Given the description of an element on the screen output the (x, y) to click on. 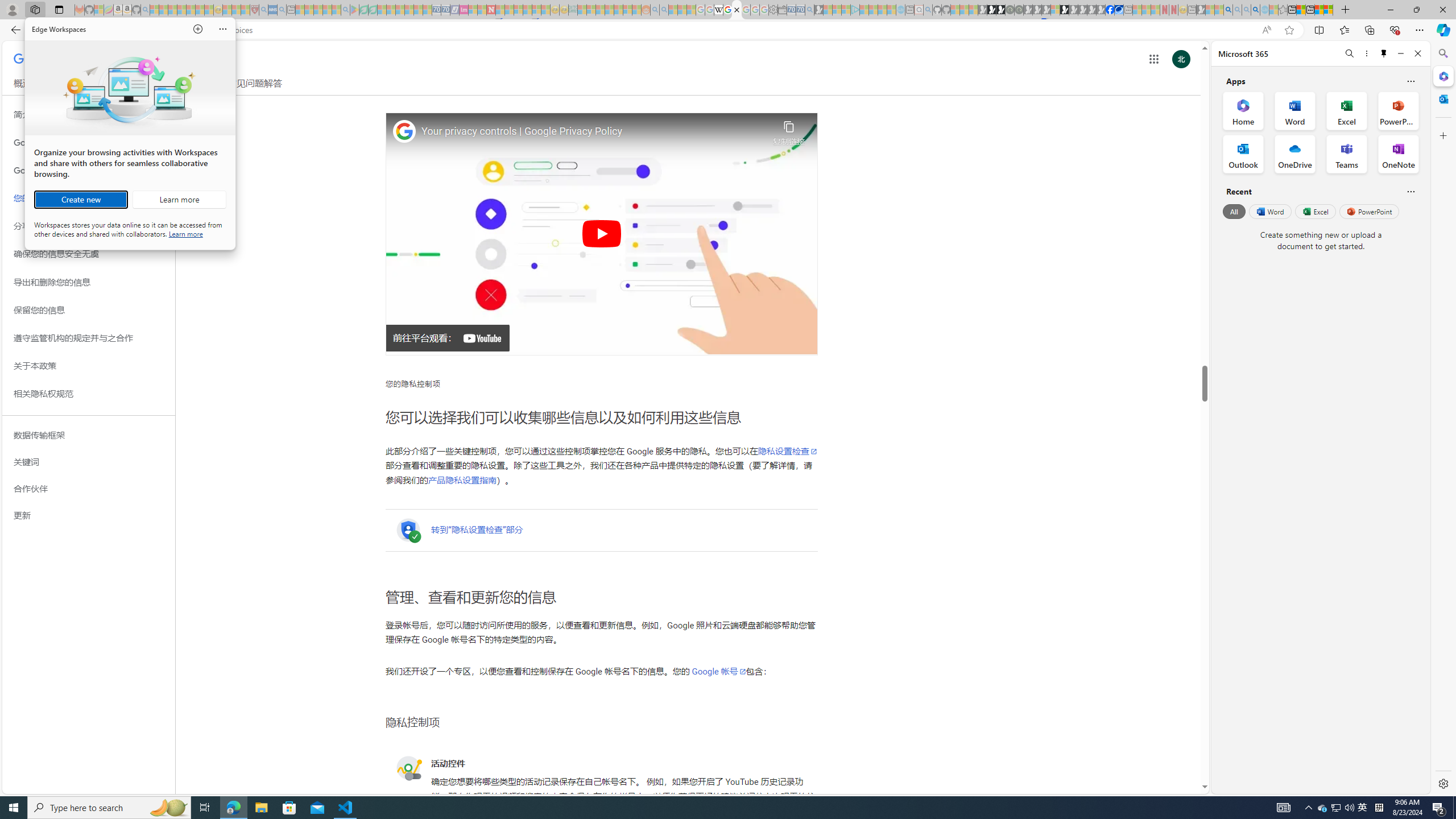
Word (1269, 210)
Privacy Help Center - Policies Help (726, 9)
